Given the description of an element on the screen output the (x, y) to click on. 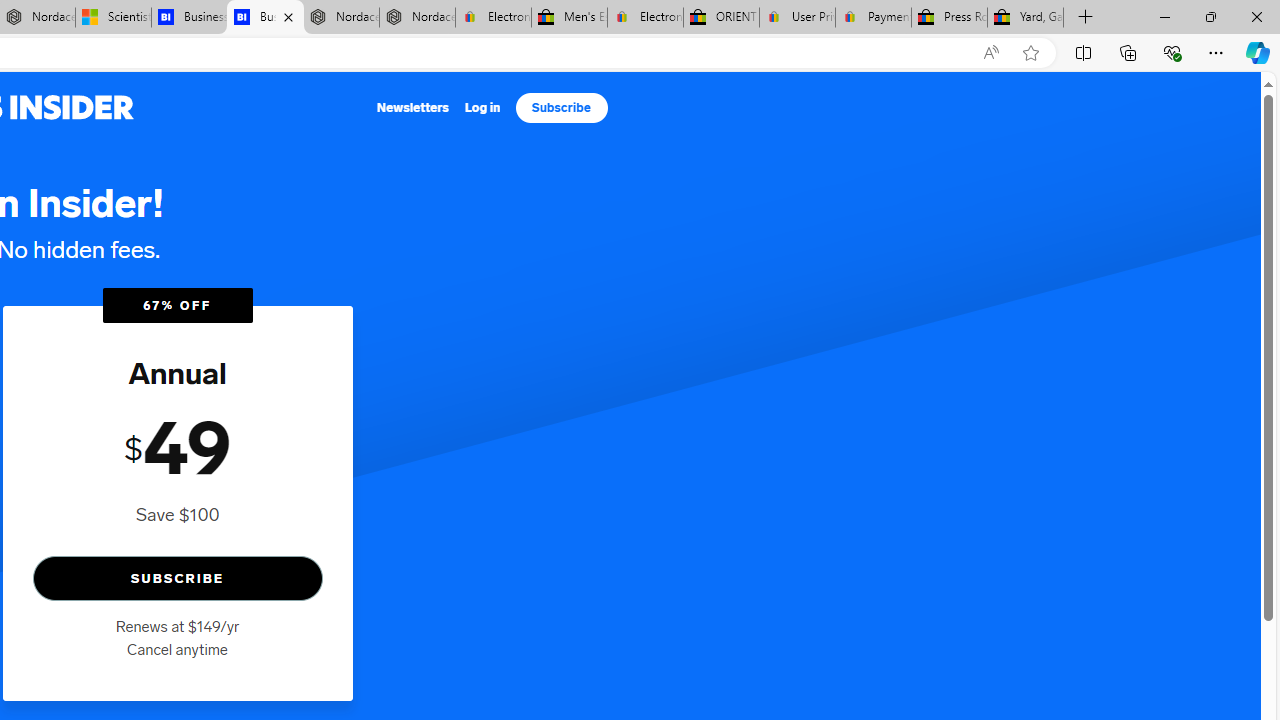
Cancel anytime (177, 649)
Log in (482, 107)
SUBSCRIBE (177, 578)
